Given the description of an element on the screen output the (x, y) to click on. 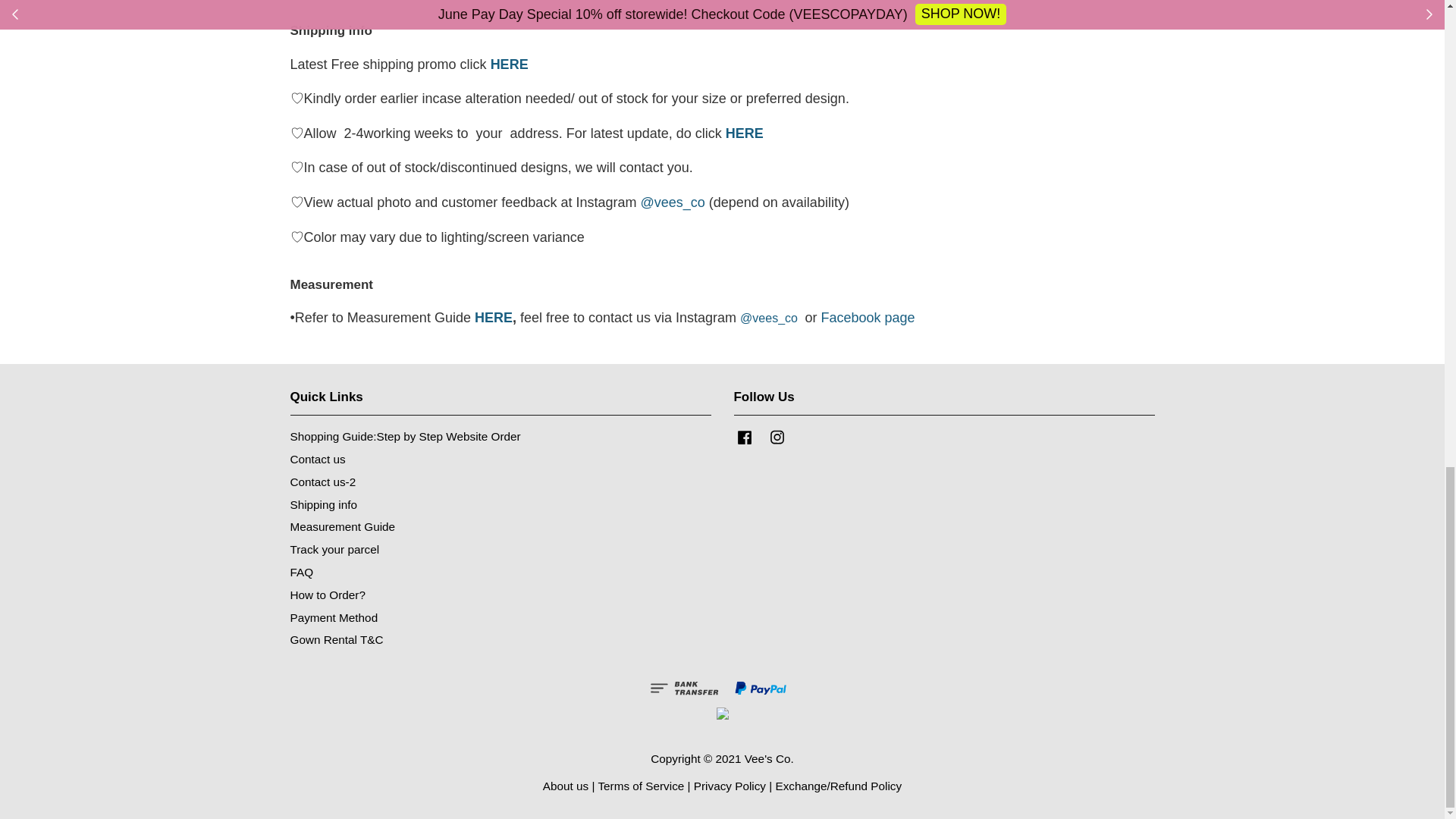
Vee's Co. on Instagram (777, 443)
Vee's Co. on Facebook (744, 443)
icon-instagram (777, 436)
icon-facebook (744, 436)
